Given the description of an element on the screen output the (x, y) to click on. 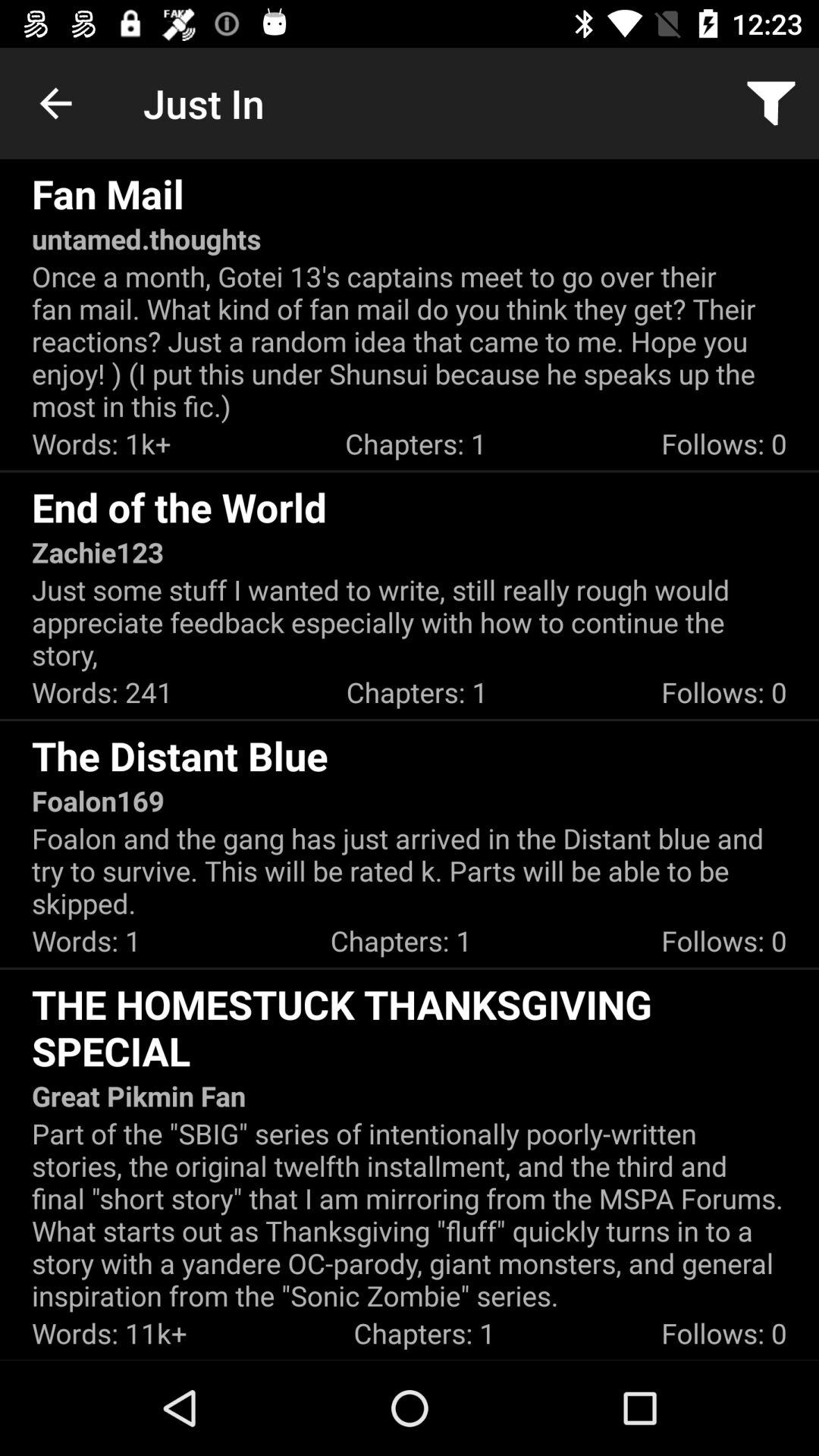
select the untamed.thoughts icon (146, 238)
